Given the description of an element on the screen output the (x, y) to click on. 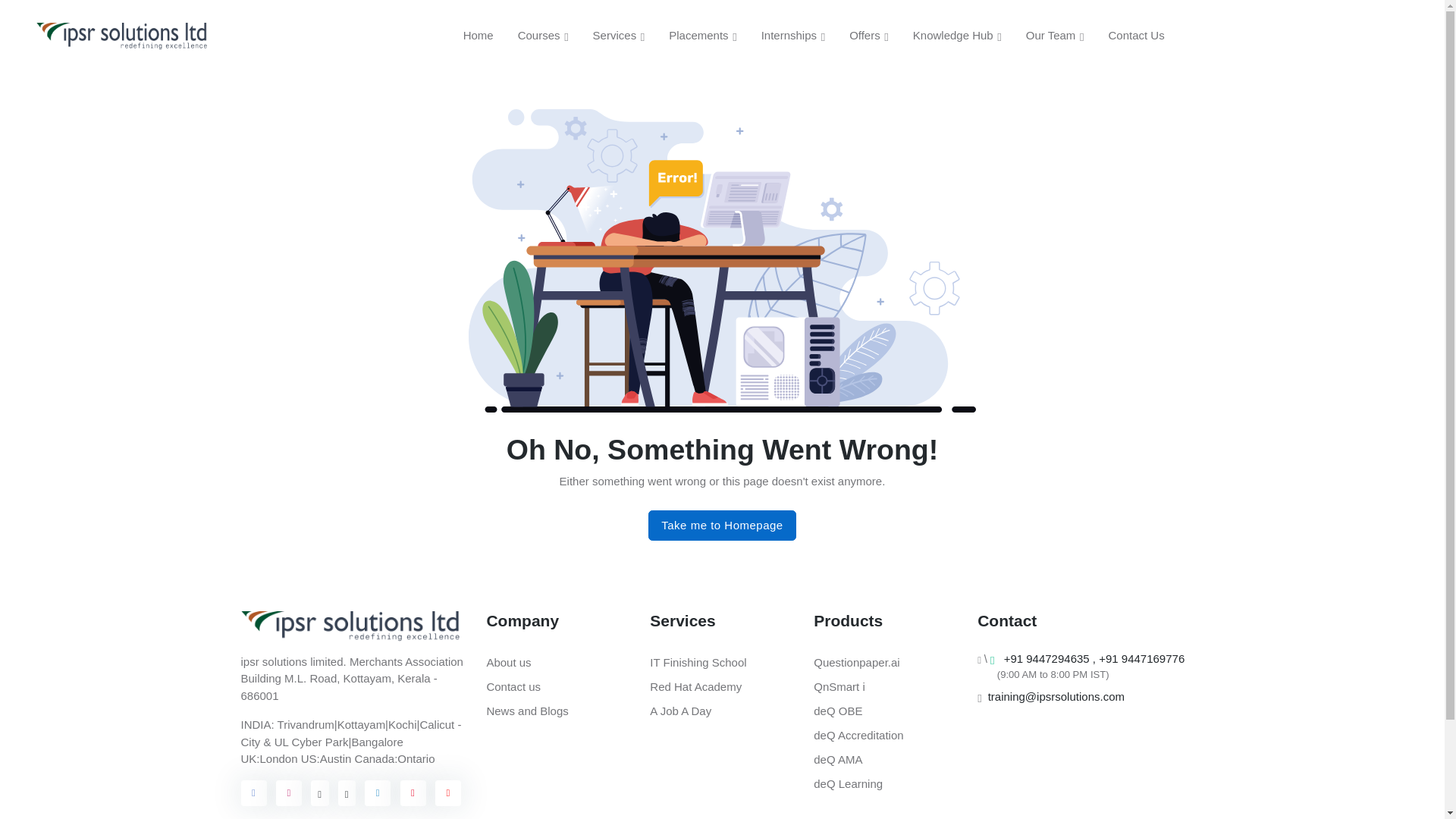
Courses (542, 35)
Home (478, 35)
